Given the description of an element on the screen output the (x, y) to click on. 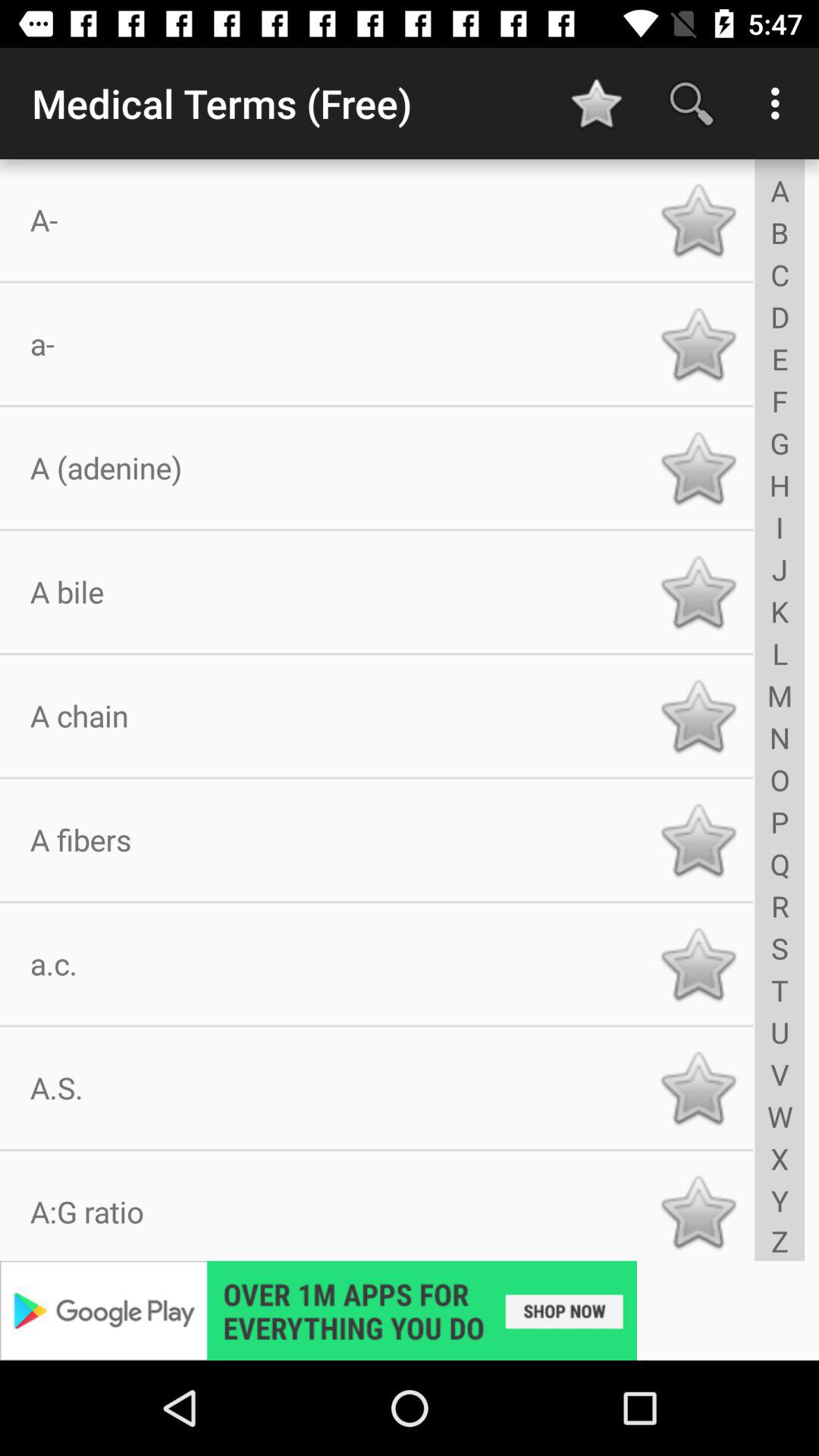
toggle save button (697, 715)
